Given the description of an element on the screen output the (x, y) to click on. 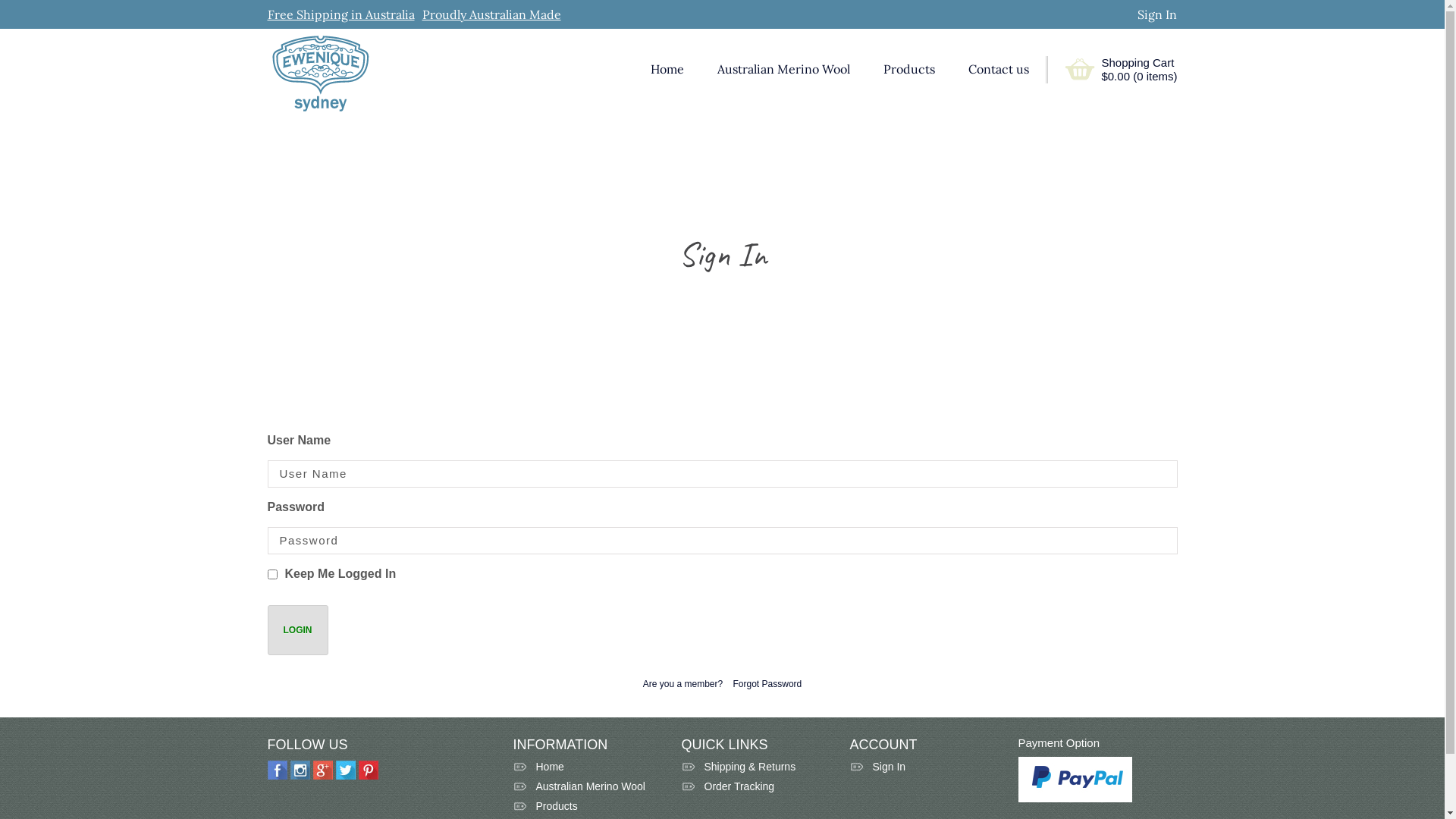
Login Element type: text (296, 630)
Australian Merino Wool Element type: text (783, 69)
Products Element type: text (908, 69)
Shipping & Returns Element type: text (755, 770)
Contact us Element type: text (998, 69)
Sign In Element type: text (924, 770)
Home Element type: text (587, 770)
Order Tracking Element type: text (755, 790)
Shopping Cart
$0.00 (0 items) Element type: text (1138, 69)
Sign In Element type: text (1156, 14)
Australian Merino Wool Element type: text (587, 790)
Home Element type: text (666, 69)
Are you a member? Element type: text (682, 683)
Forgot Password Element type: text (767, 683)
